Given the description of an element on the screen output the (x, y) to click on. 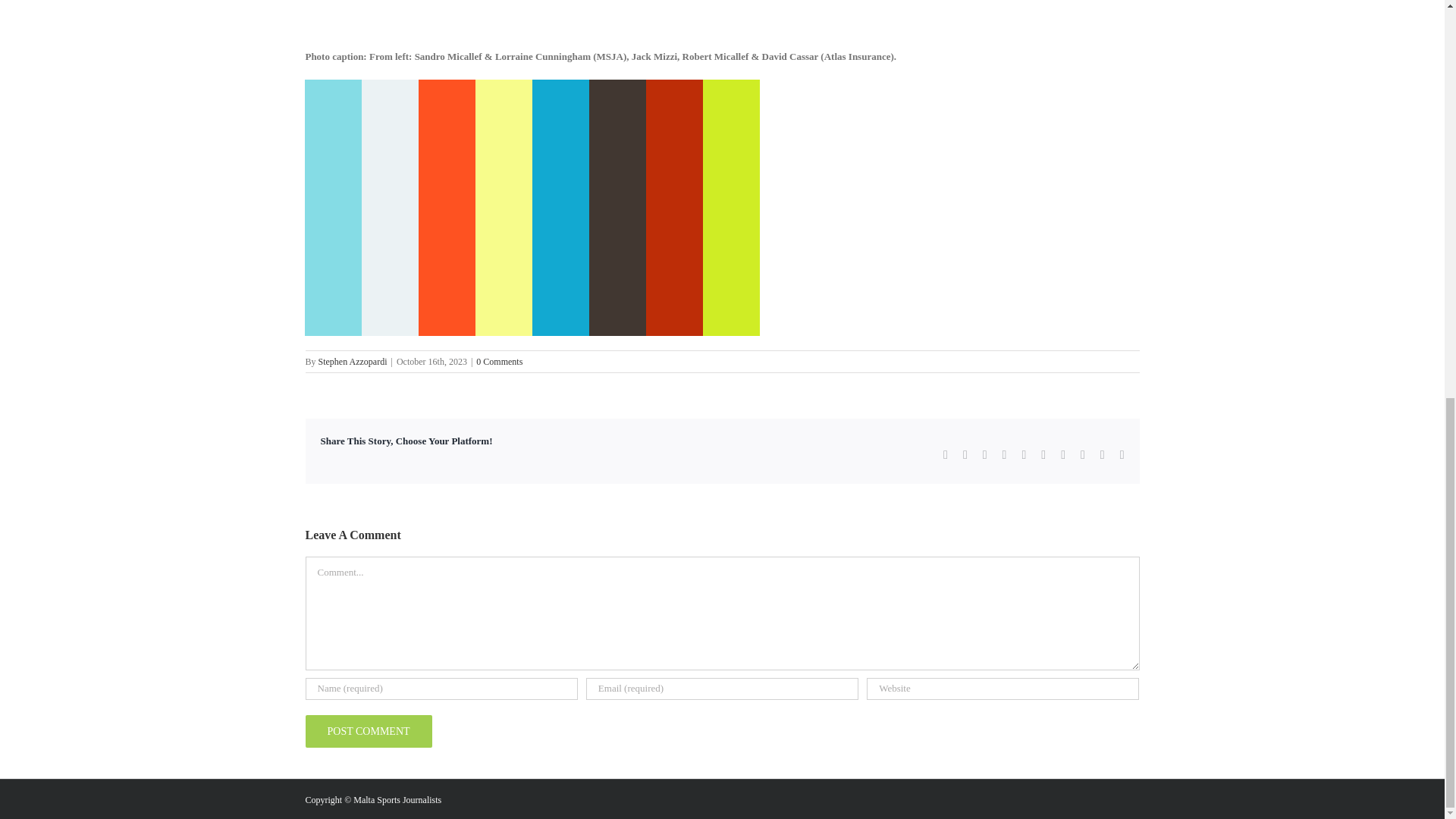
Posts by Stephen Azzopardi (352, 361)
Post Comment (367, 730)
Vimeo video player 1 (532, 207)
